Given the description of an element on the screen output the (x, y) to click on. 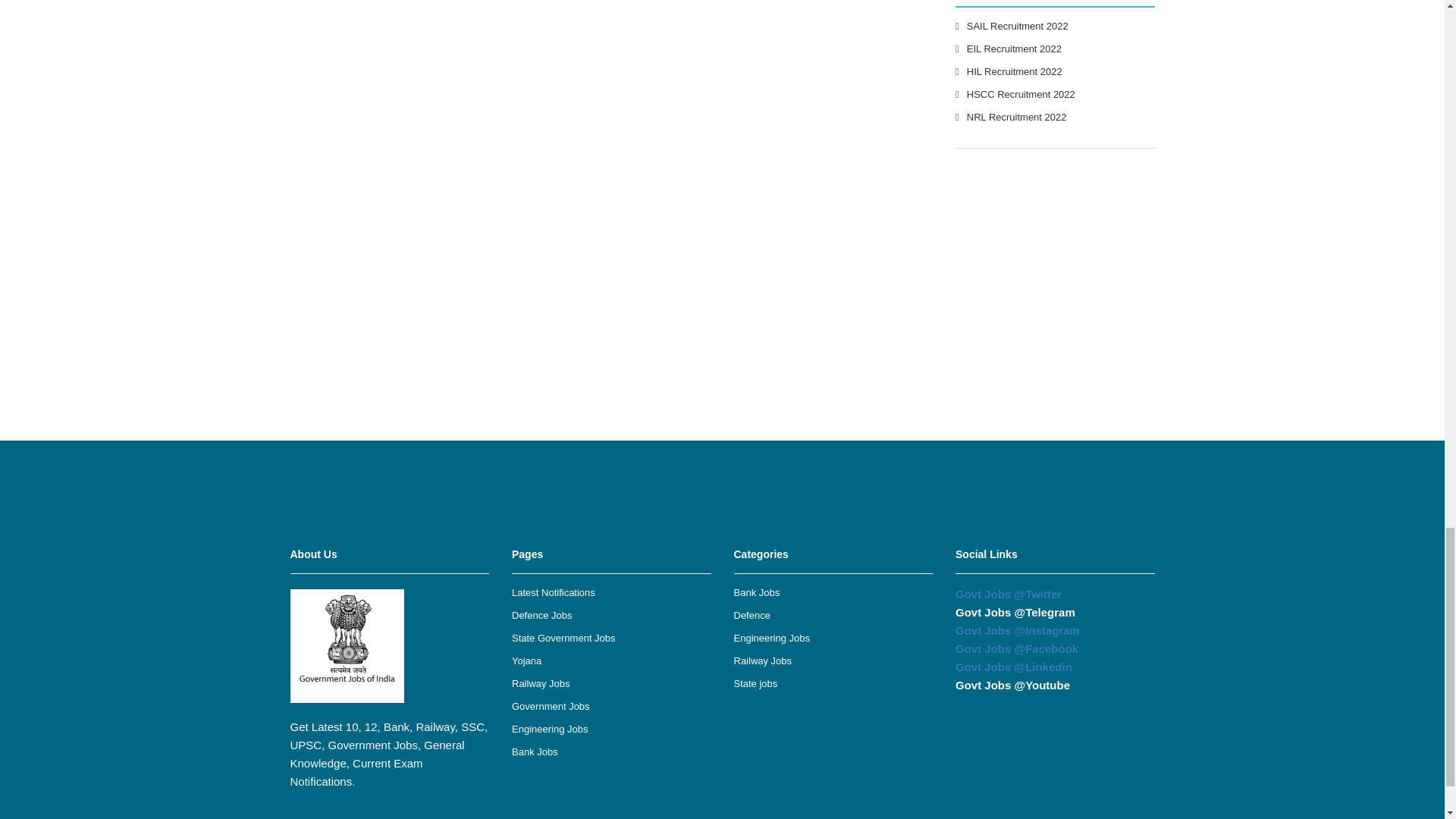
State Government Jobs (563, 637)
Advertisement (721, 474)
EIL Recruitment 2022 (1013, 48)
Yojana (526, 660)
HIL Recruitment 2022 (1014, 71)
Railway Jobs (541, 683)
SAIL Recruitment 2022 (1017, 25)
HSCC Recruitment 2022 (1020, 93)
Latest Notifications (553, 592)
NRL Recruitment 2022 (1016, 116)
Defence Jobs (542, 614)
